Given the description of an element on the screen output the (x, y) to click on. 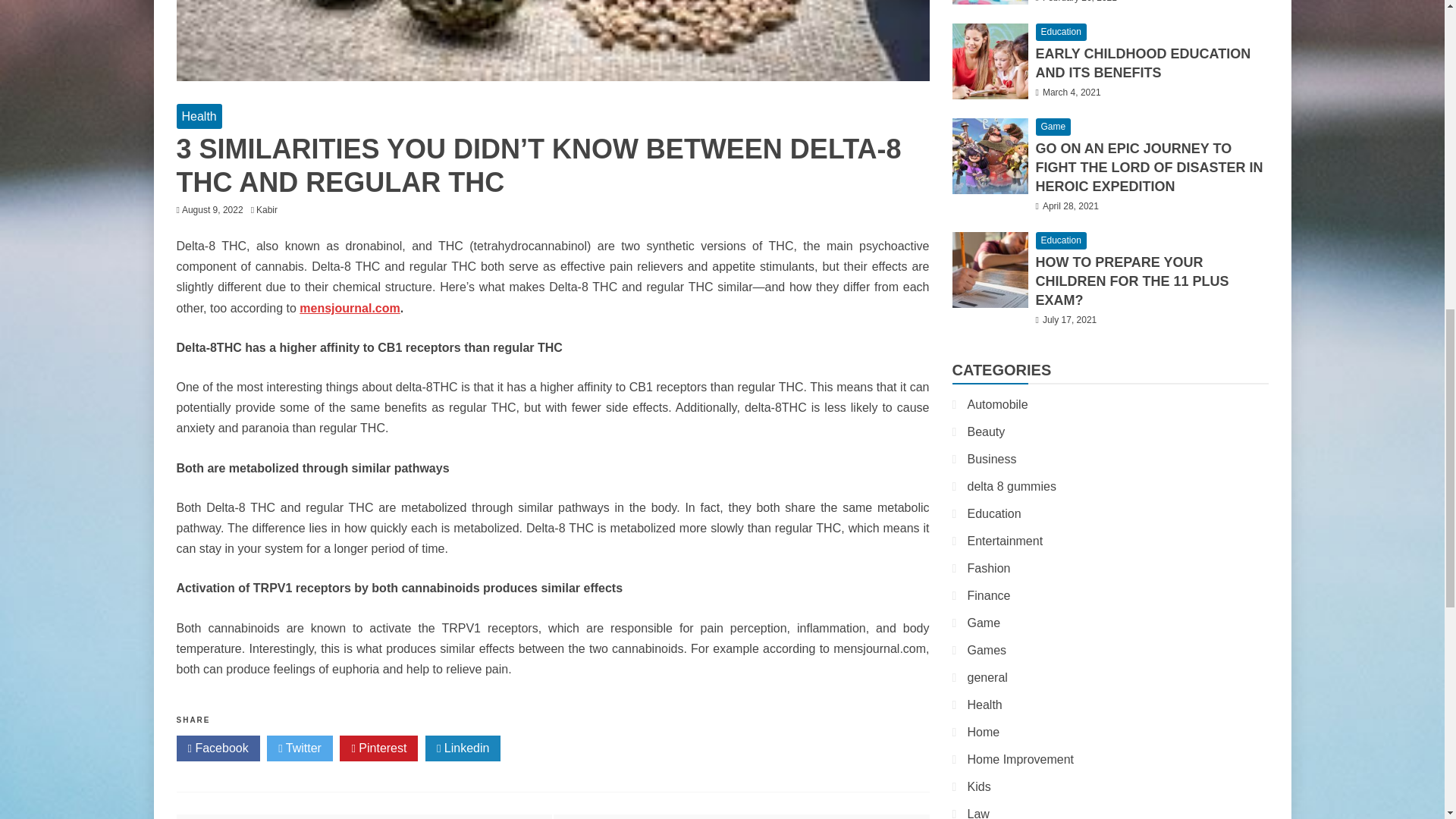
Linkedin (462, 748)
Twitter (299, 748)
mensjournal.com (348, 308)
August 9, 2022 (212, 209)
Facebook (217, 748)
Kabir (270, 209)
Health (198, 116)
Pinterest (378, 748)
